Given the description of an element on the screen output the (x, y) to click on. 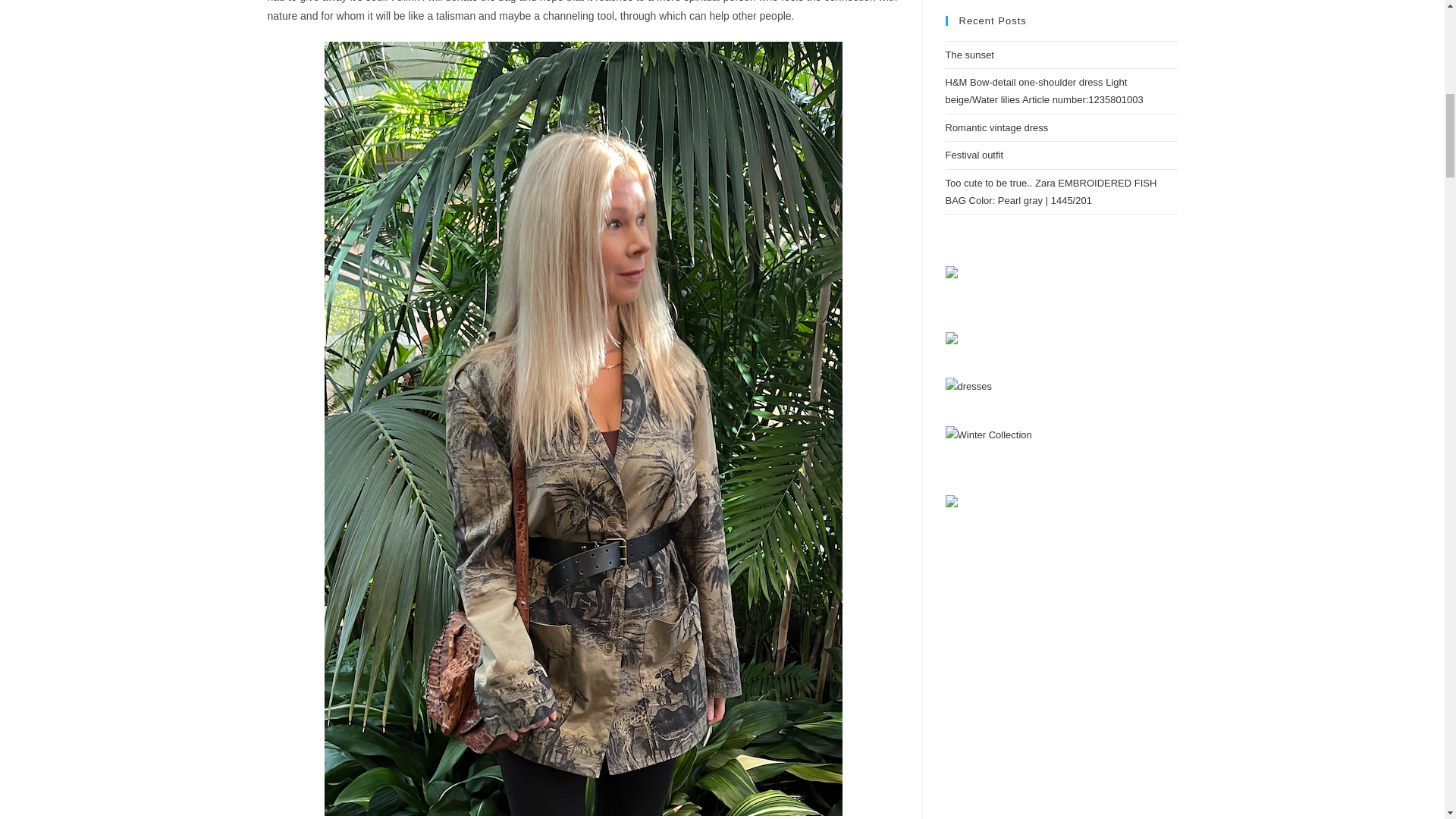
The sunset (968, 54)
Festival outfit (973, 154)
Romantic vintage dress (996, 127)
